Given the description of an element on the screen output the (x, y) to click on. 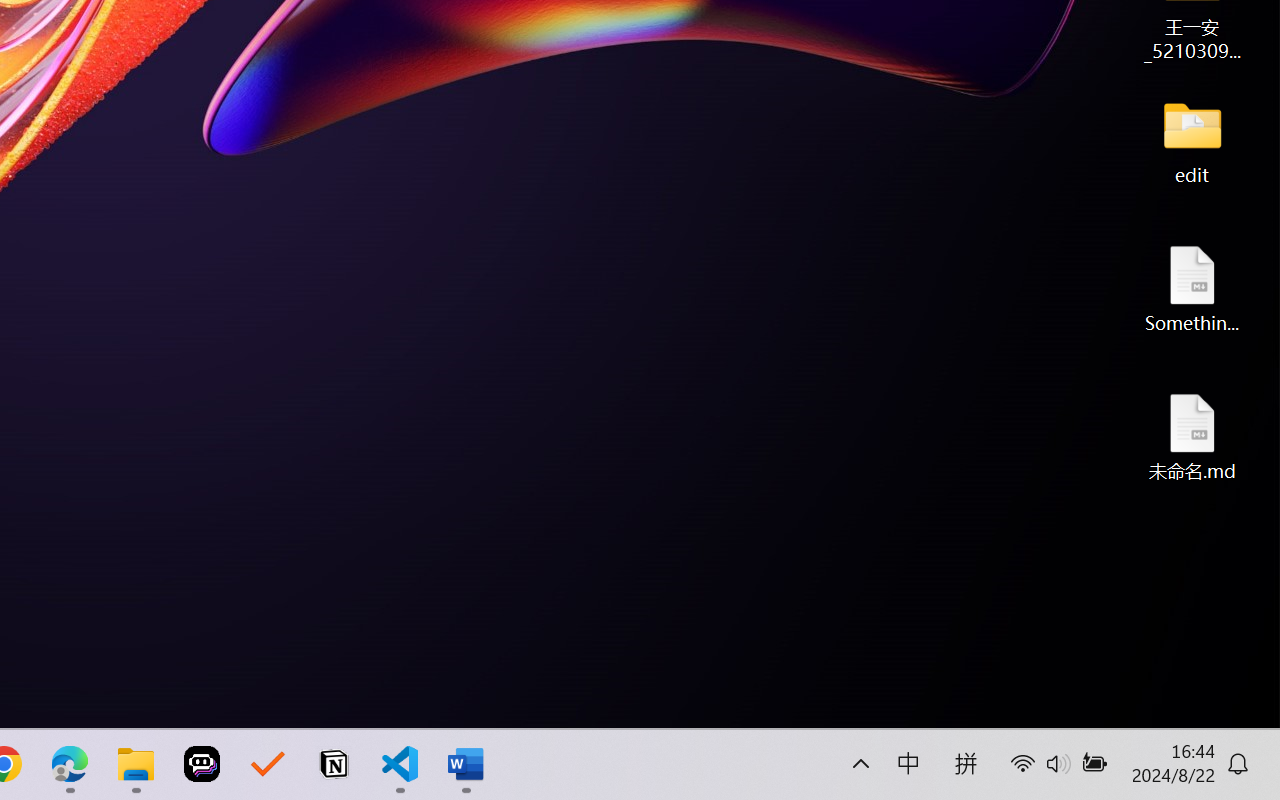
Something.md (1192, 288)
edit (1192, 140)
